Given the description of an element on the screen output the (x, y) to click on. 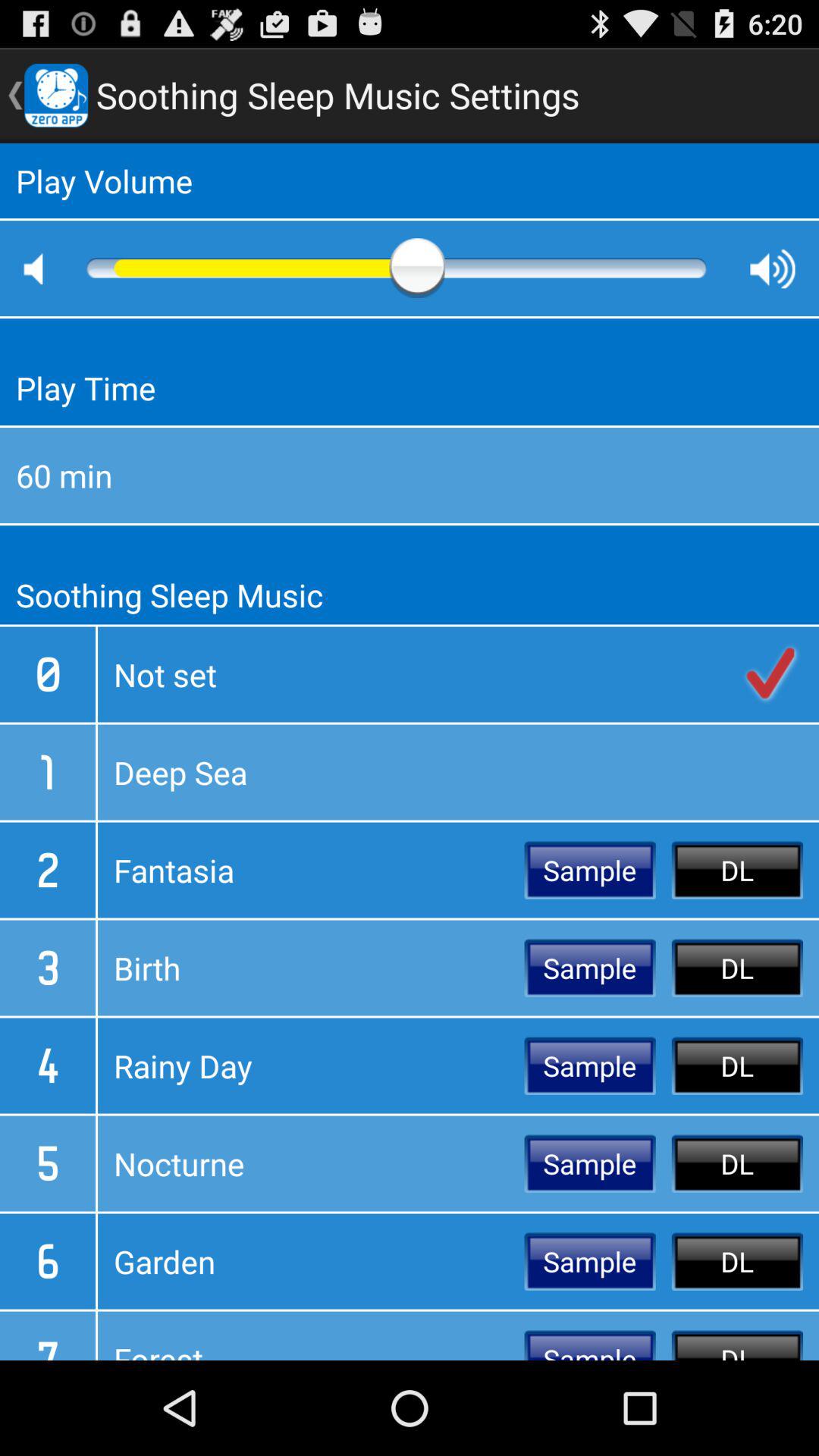
scroll to birth item (310, 967)
